Given the description of an element on the screen output the (x, y) to click on. 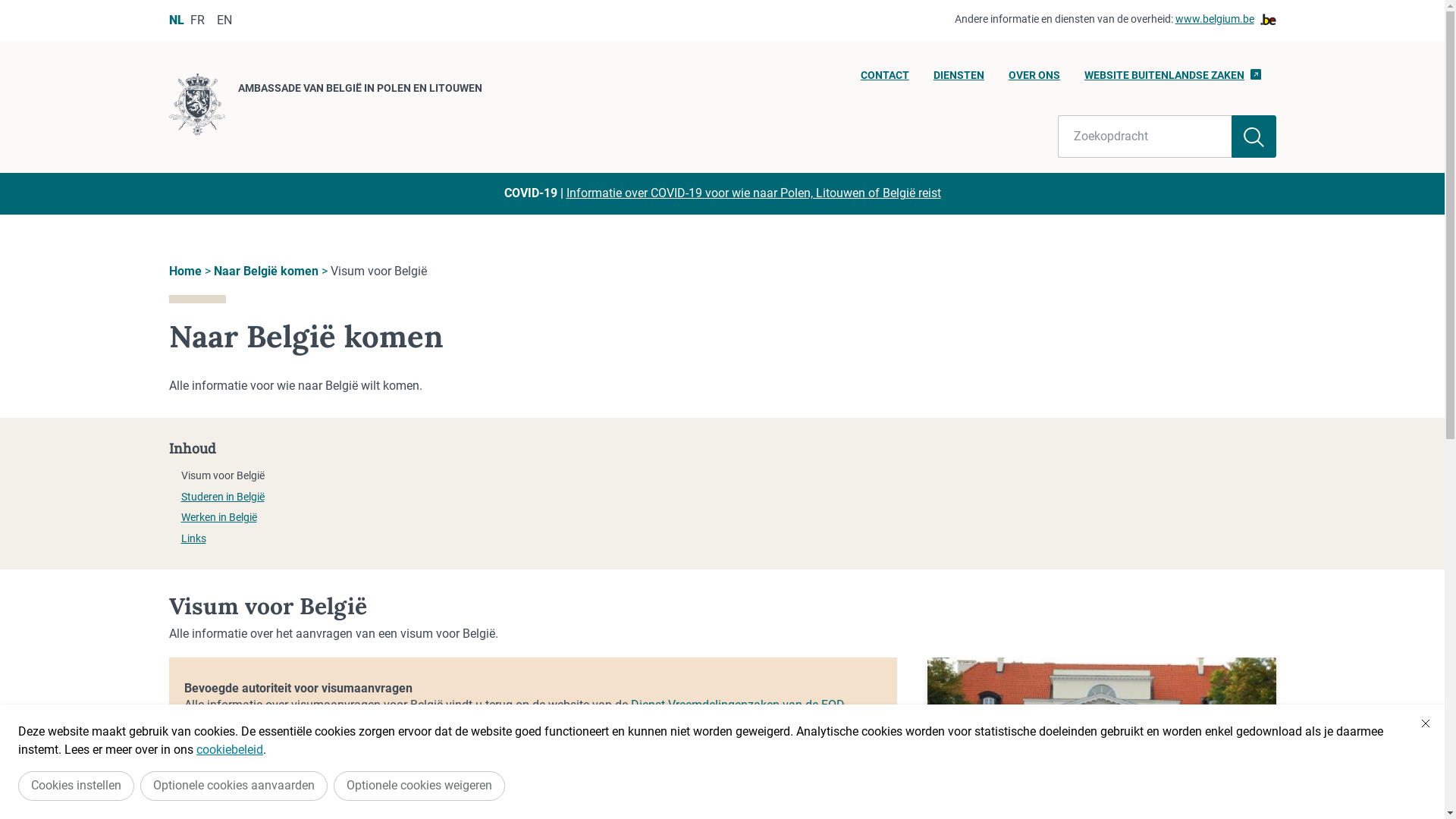
FR Element type: text (196, 19)
Zoekopdracht Element type: hover (1144, 136)
Cookies instellen Element type: text (76, 785)
Sluiten Element type: hover (1425, 723)
Home Element type: text (184, 270)
Skip to main content Element type: text (7, 4)
Links Element type: text (192, 538)
NL Element type: text (175, 19)
www.belgium.be Element type: text (1225, 19)
Dienst Vreemdelingenzaken van de FOD Binnenlandse Zaken Element type: text (513, 712)
DIENSTEN Element type: text (958, 79)
OVER ONS Element type: text (1034, 79)
Filteren Element type: text (1253, 136)
Optionele cookies aanvaarden Element type: text (233, 785)
cookiebeleid Element type: text (229, 749)
Optionele cookies weigeren Element type: text (419, 785)
CONTACT Element type: text (884, 79)
WEBSITE BUITENLANDSE ZAKEN Element type: text (1172, 79)
EN Element type: text (224, 19)
